Given the description of an element on the screen output the (x, y) to click on. 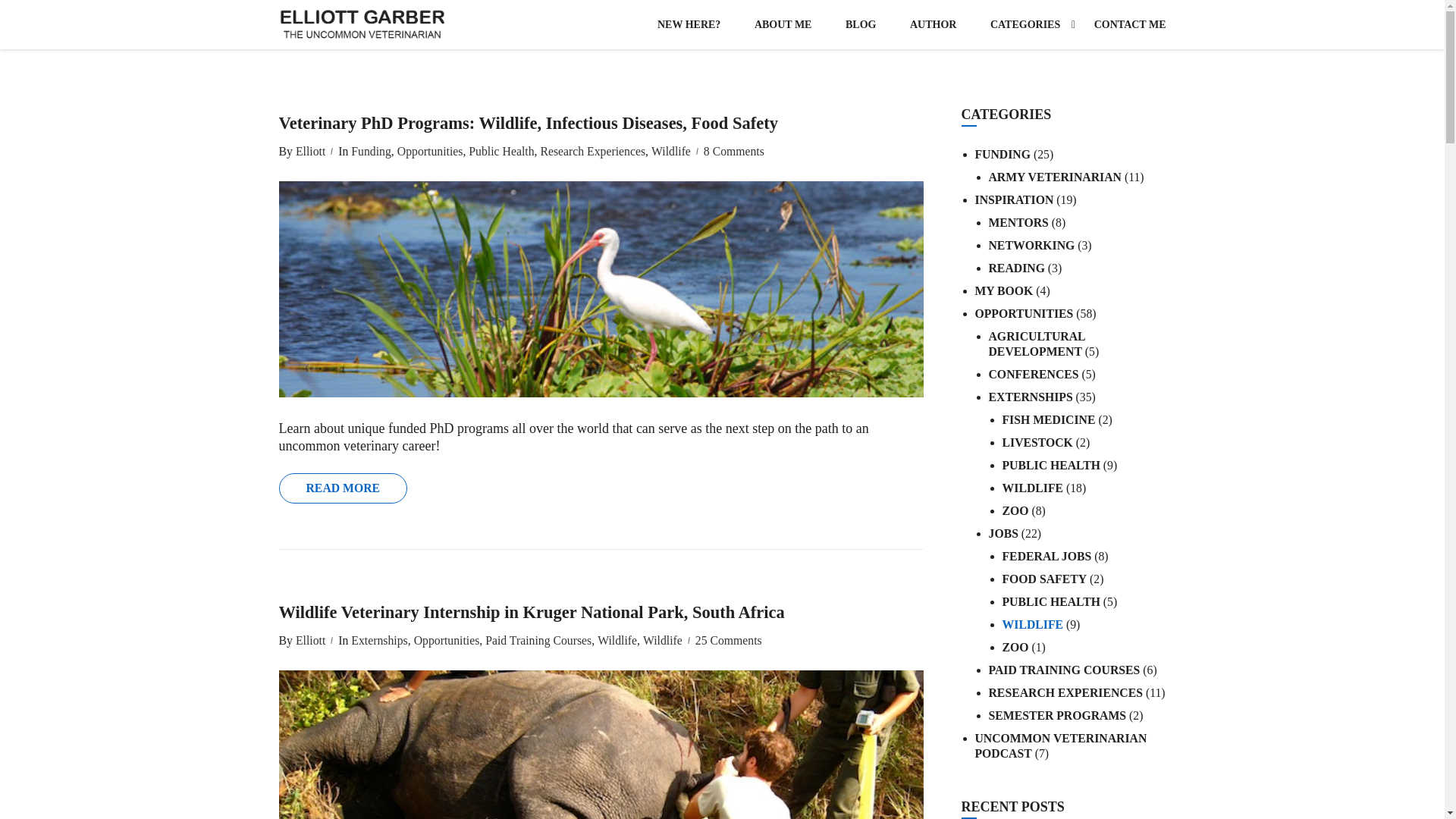
Elliott (308, 151)
Elliott Garber - The Uncommon Veterinarian (362, 24)
NEW HERE? (688, 24)
Research Experiences (591, 151)
AUTHOR (933, 24)
8 Comments (733, 151)
READ MORE (343, 488)
Public Health (499, 151)
CATEGORIES (1025, 24)
CONTACT ME (1122, 24)
Wildlife (668, 151)
Funding (369, 151)
BLOG (860, 24)
ABOUT ME (783, 24)
